Given the description of an element on the screen output the (x, y) to click on. 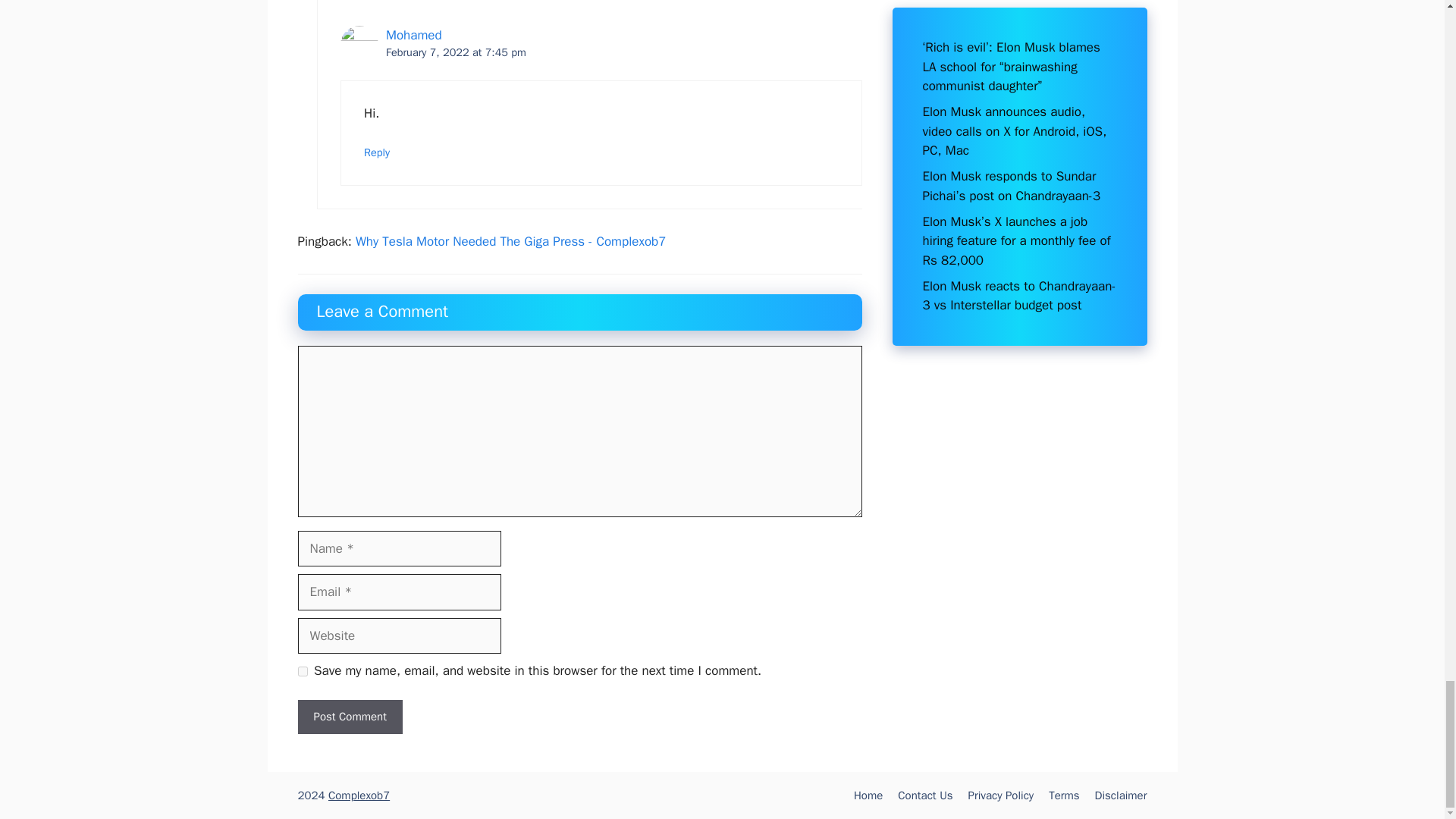
yes (302, 671)
Post Comment (349, 716)
